Given the description of an element on the screen output the (x, y) to click on. 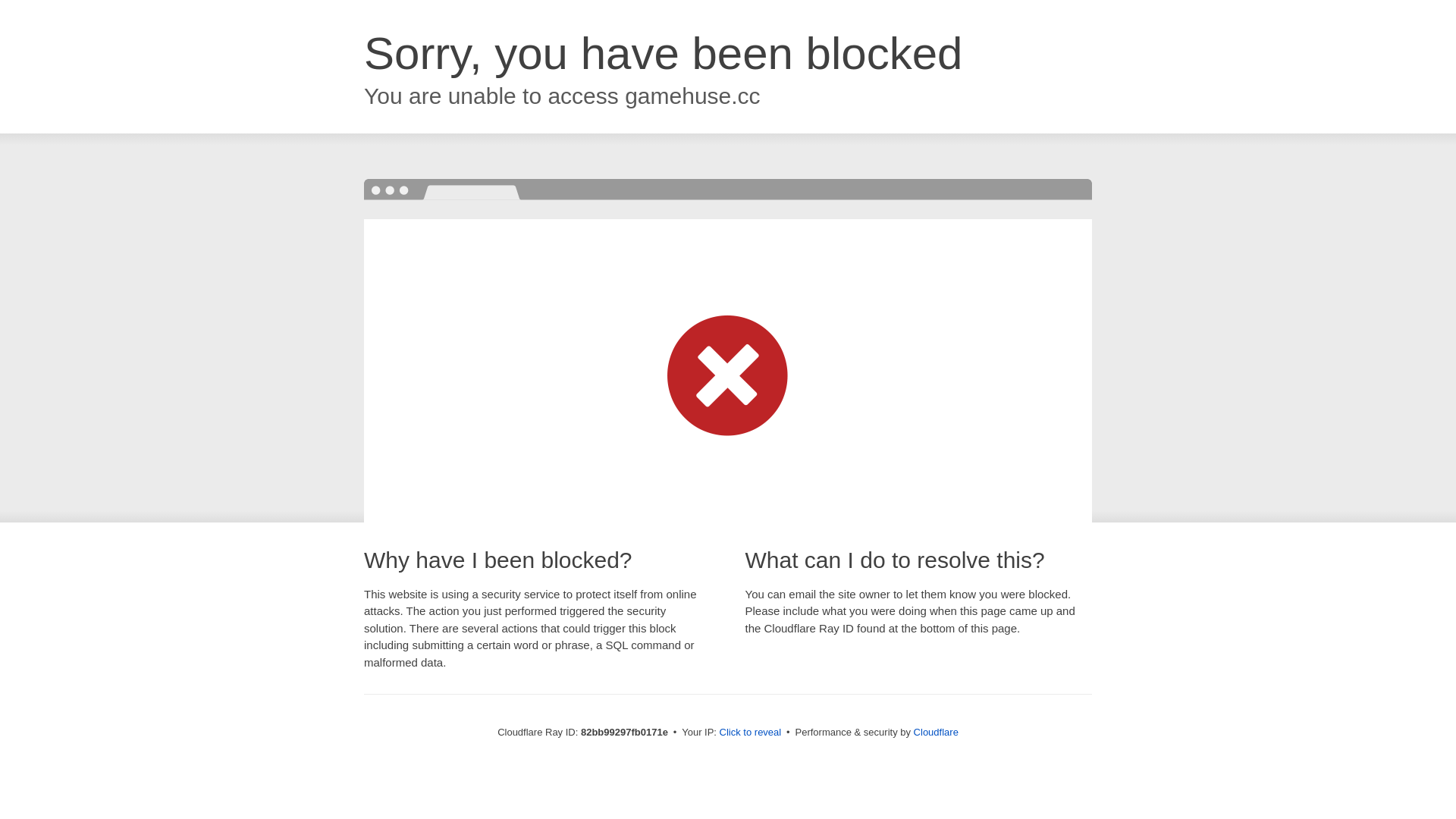
Cloudflare Element type: text (935, 731)
Click to reveal Element type: text (750, 732)
